Given the description of an element on the screen output the (x, y) to click on. 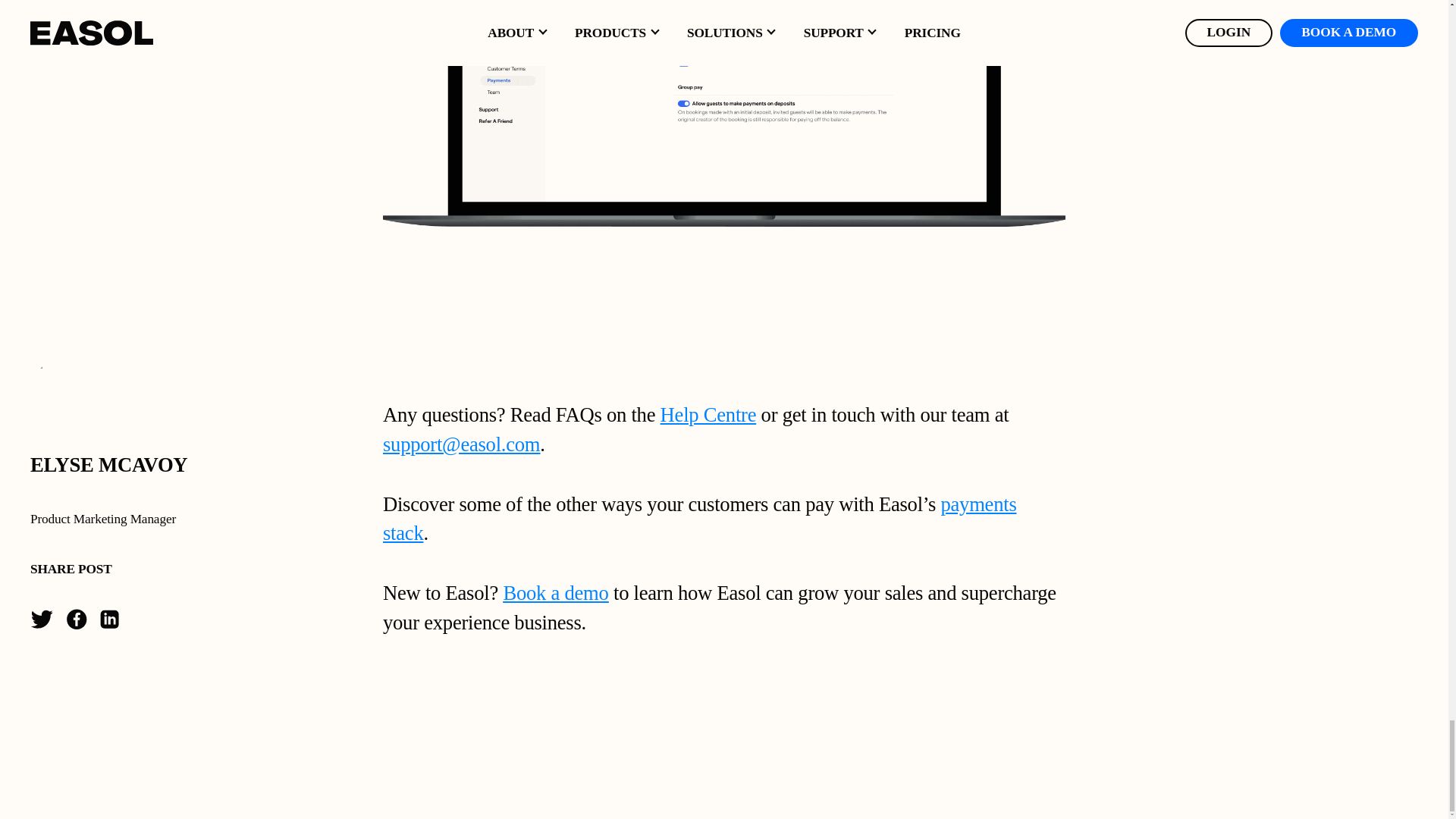
Share on Facebook (76, 619)
Book a demo (555, 592)
Help Centre (709, 414)
payments stack (699, 519)
